Given the description of an element on the screen output the (x, y) to click on. 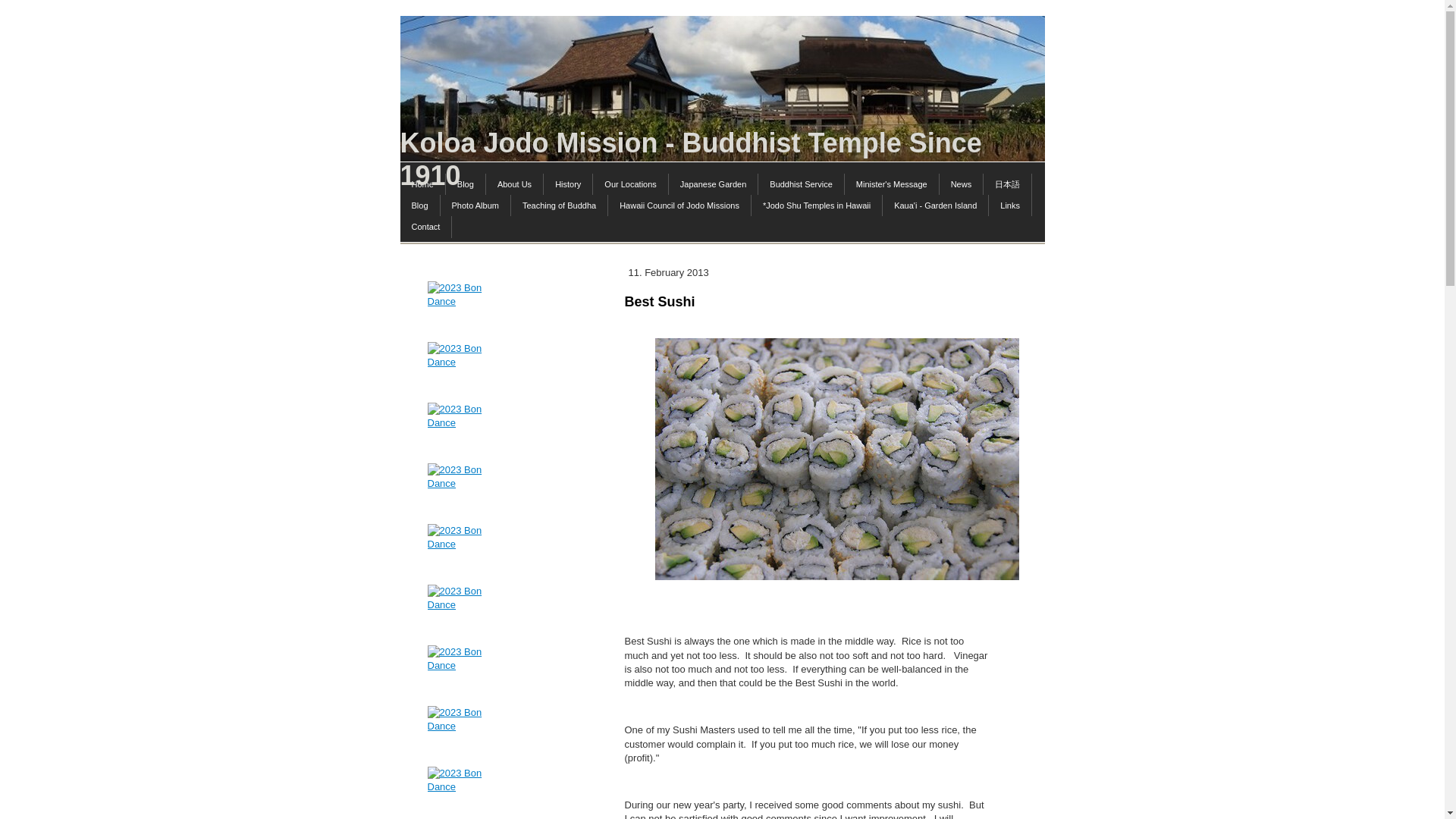
Hawaii Council of Jodo Missions (679, 205)
Minister's Message (891, 183)
Our Locations (630, 183)
Koloa Jodo Mission - Buddhist Temple Since 1910 (722, 157)
Blog (465, 183)
Teaching of Buddha (559, 205)
Japanese Garden (713, 183)
Contact (426, 226)
Buddhist Service (801, 183)
Links (1010, 205)
